Given the description of an element on the screen output the (x, y) to click on. 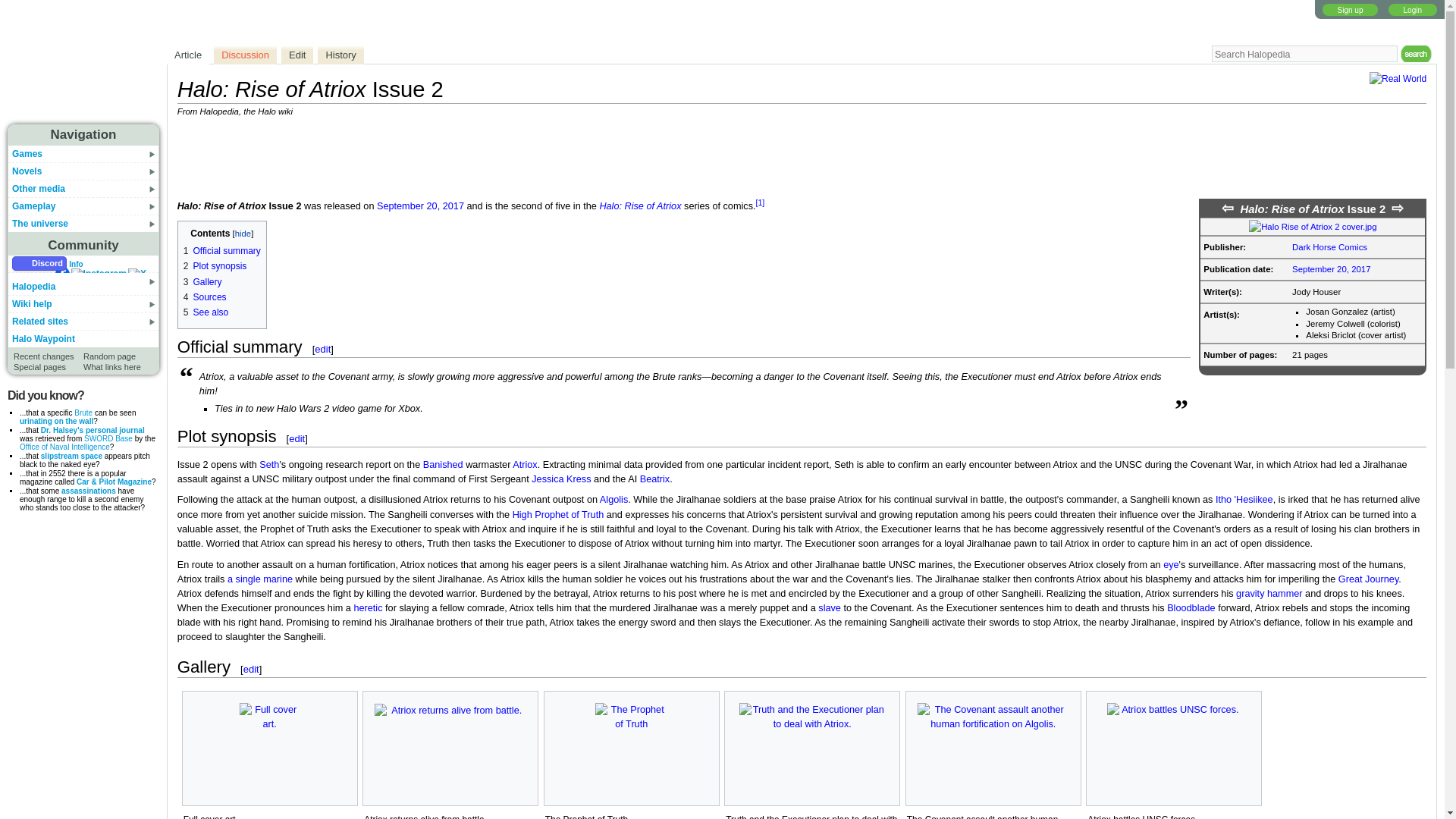
Instagram (98, 274)
Assassination (88, 490)
Join our Discord server (38, 263)
X (137, 274)
Visit the main page (82, 69)
Dr. Halsey's personal journal (92, 429)
Search Halopedia (1304, 53)
Office of Naval Intelligence (65, 447)
Login (1413, 9)
Slipstream space (70, 456)
